Given the description of an element on the screen output the (x, y) to click on. 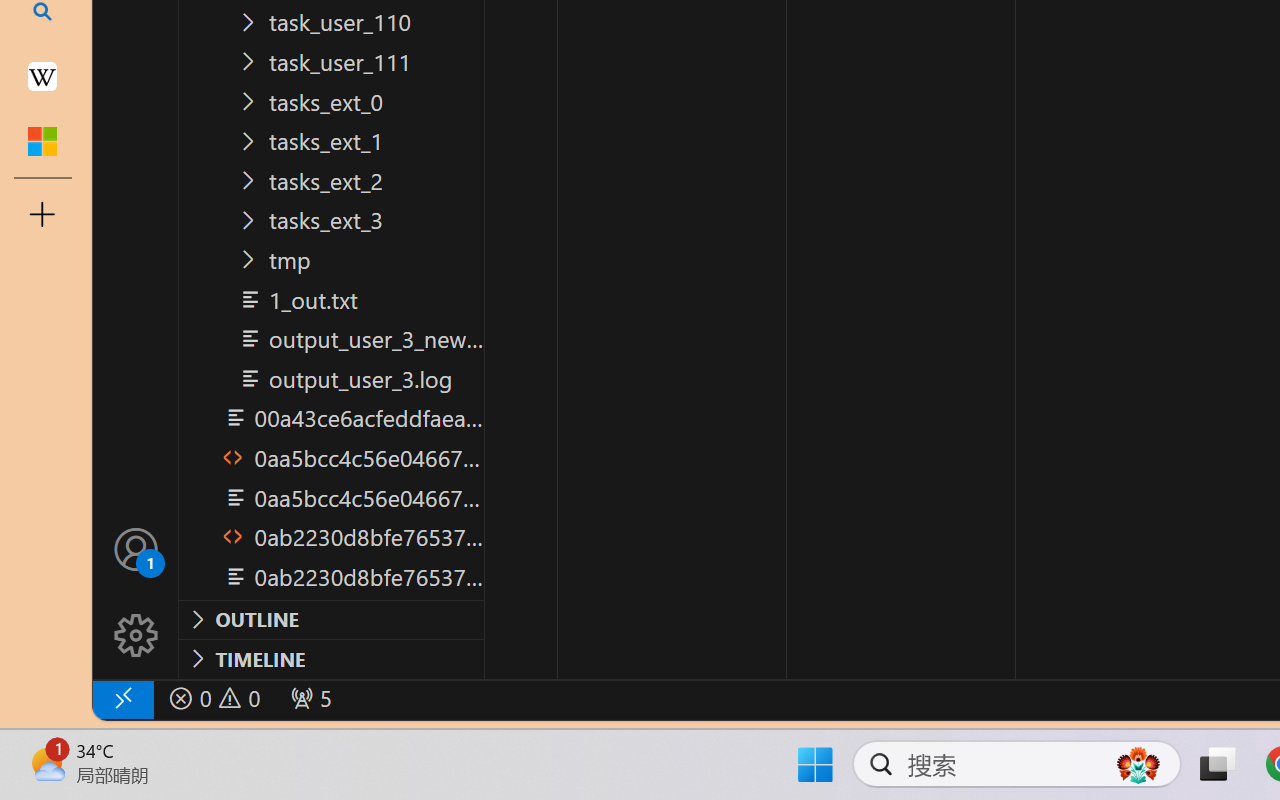
Earth - Wikipedia (42, 75)
Accounts - Sign in requested (135, 548)
Forwarded Ports: 36301, 47065, 38781, 45817, 50331 (308, 698)
remote (122, 698)
Manage (135, 591)
Outline Section (331, 619)
